Given the description of an element on the screen output the (x, y) to click on. 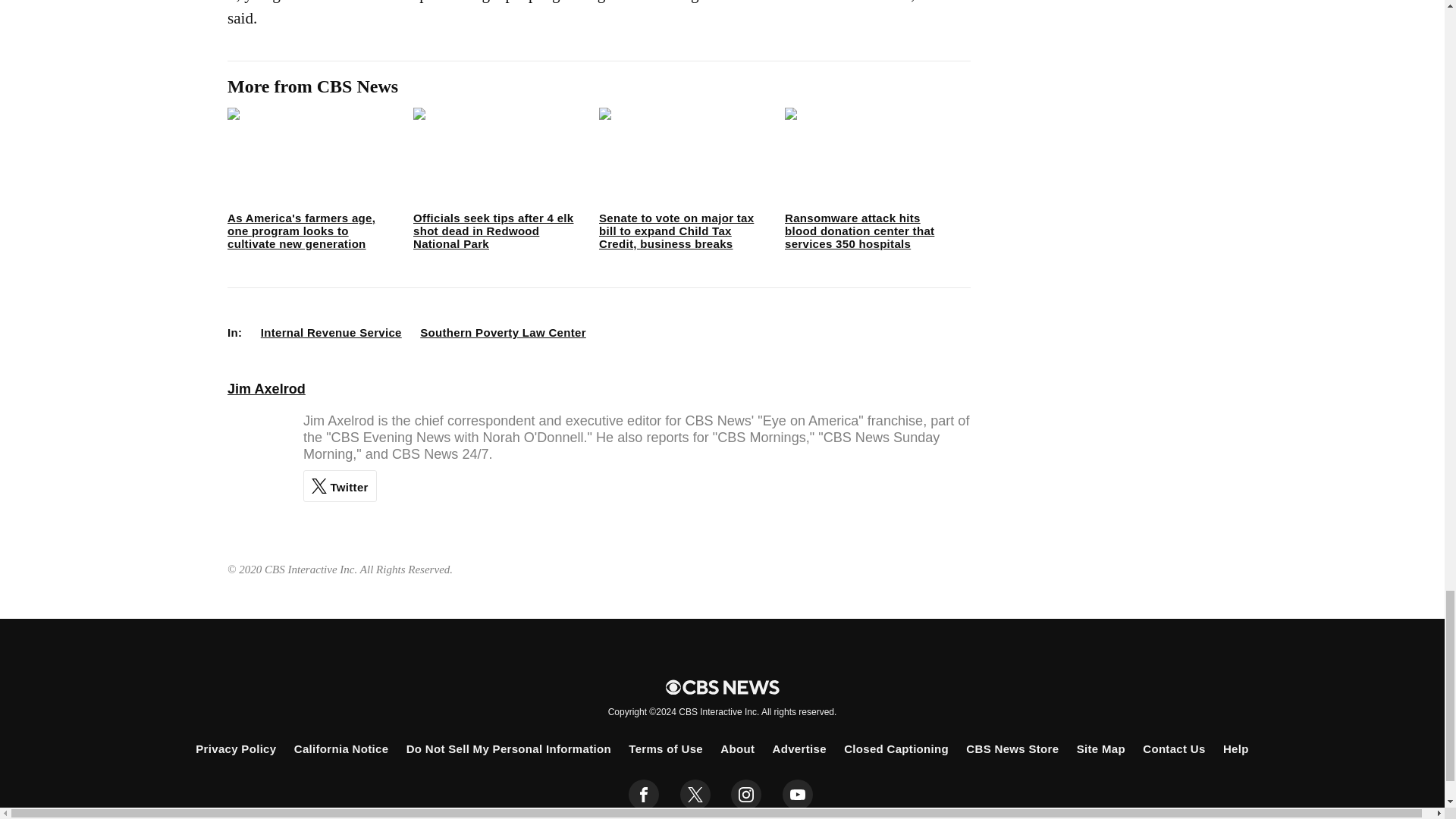
twitter (694, 794)
instagram (745, 794)
facebook (643, 794)
youtube (797, 794)
